Given the description of an element on the screen output the (x, y) to click on. 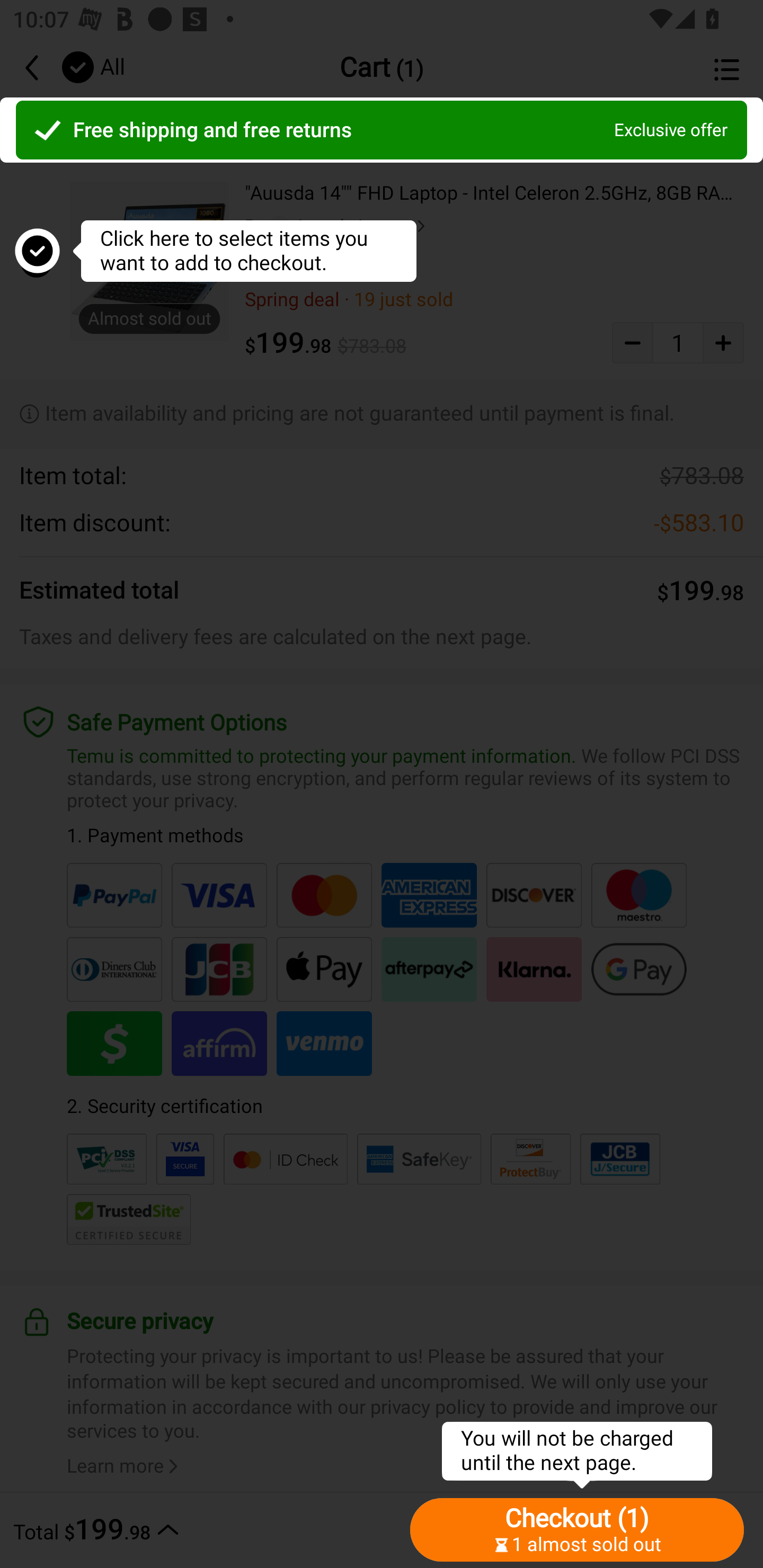
Free shipping and free returns Exclusive offer (381, 129)
Product checkbox checked (35, 260)
Checkout Checkout (1) ￼1 almost sold out (576, 1529)
